Given the description of an element on the screen output the (x, y) to click on. 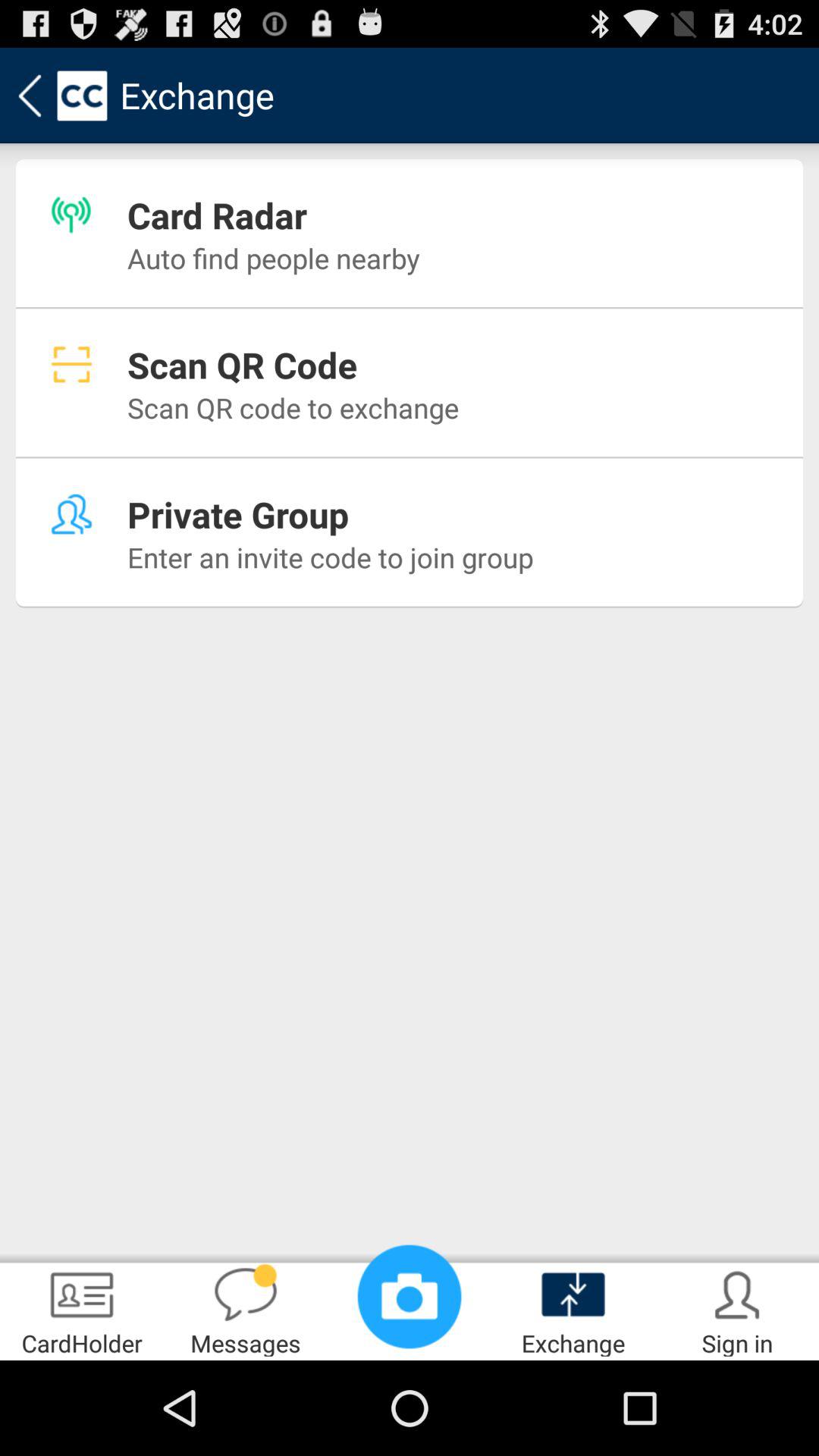
open the app below the enter an invite item (245, 1309)
